Given the description of an element on the screen output the (x, y) to click on. 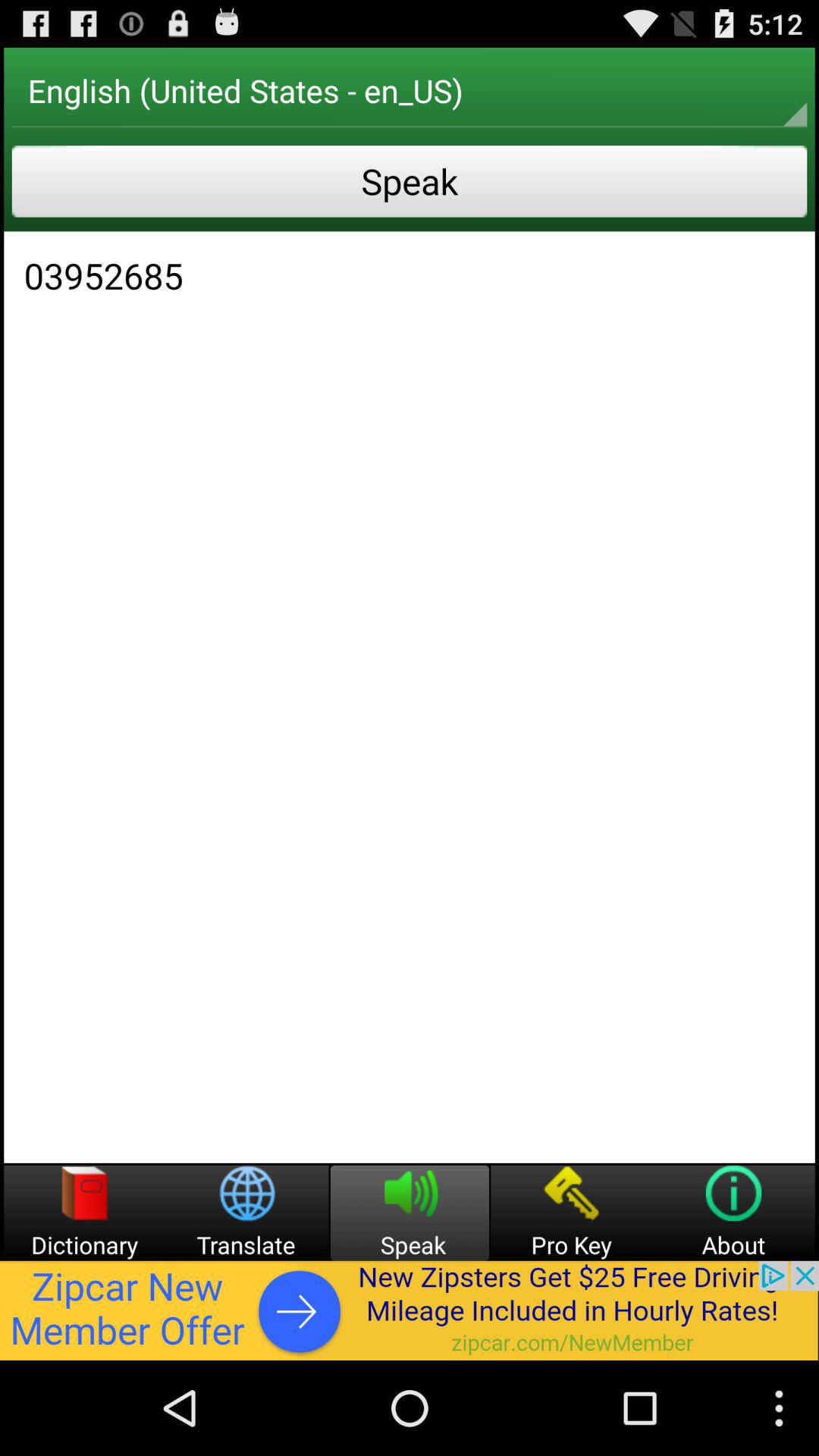
add list (409, 1310)
